Given the description of an element on the screen output the (x, y) to click on. 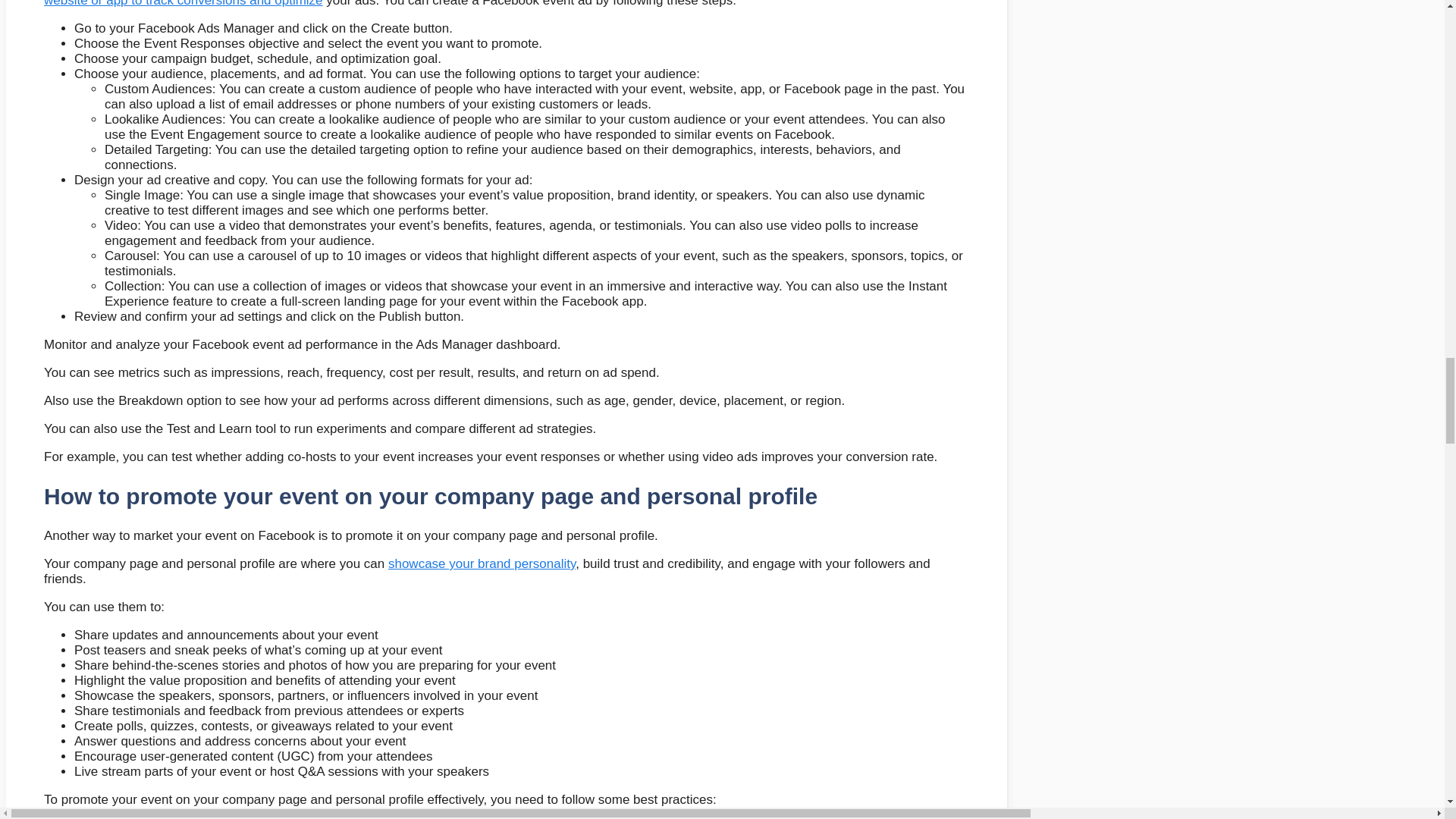
showcase your brand personality (481, 563)
website or app to track conversions and optimize (183, 3)
